Given the description of an element on the screen output the (x, y) to click on. 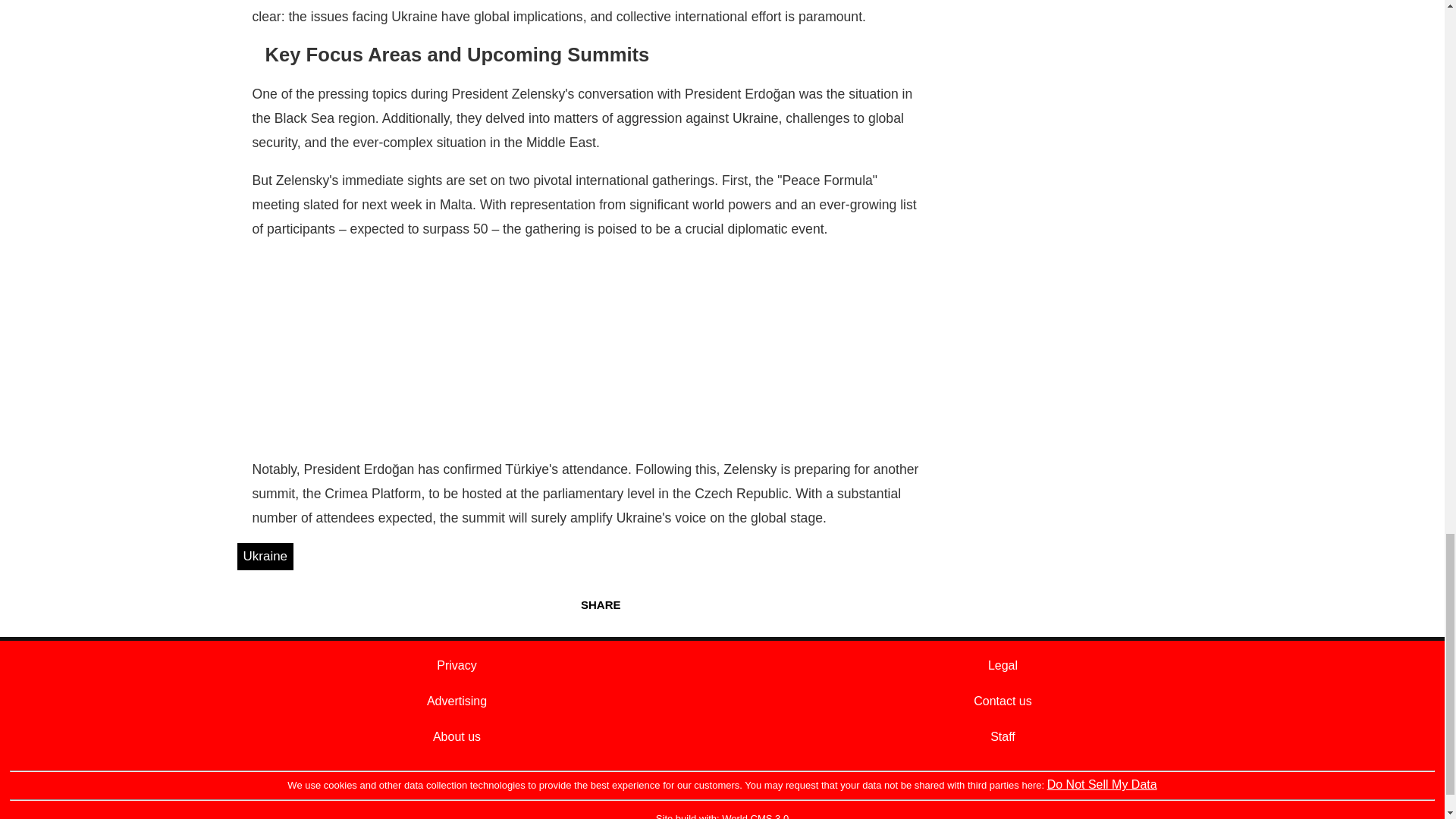
Advertising (456, 700)
Legal (1002, 665)
Privacy (456, 665)
Ukraine (264, 556)
Contact us (1002, 700)
